Given the description of an element on the screen output the (x, y) to click on. 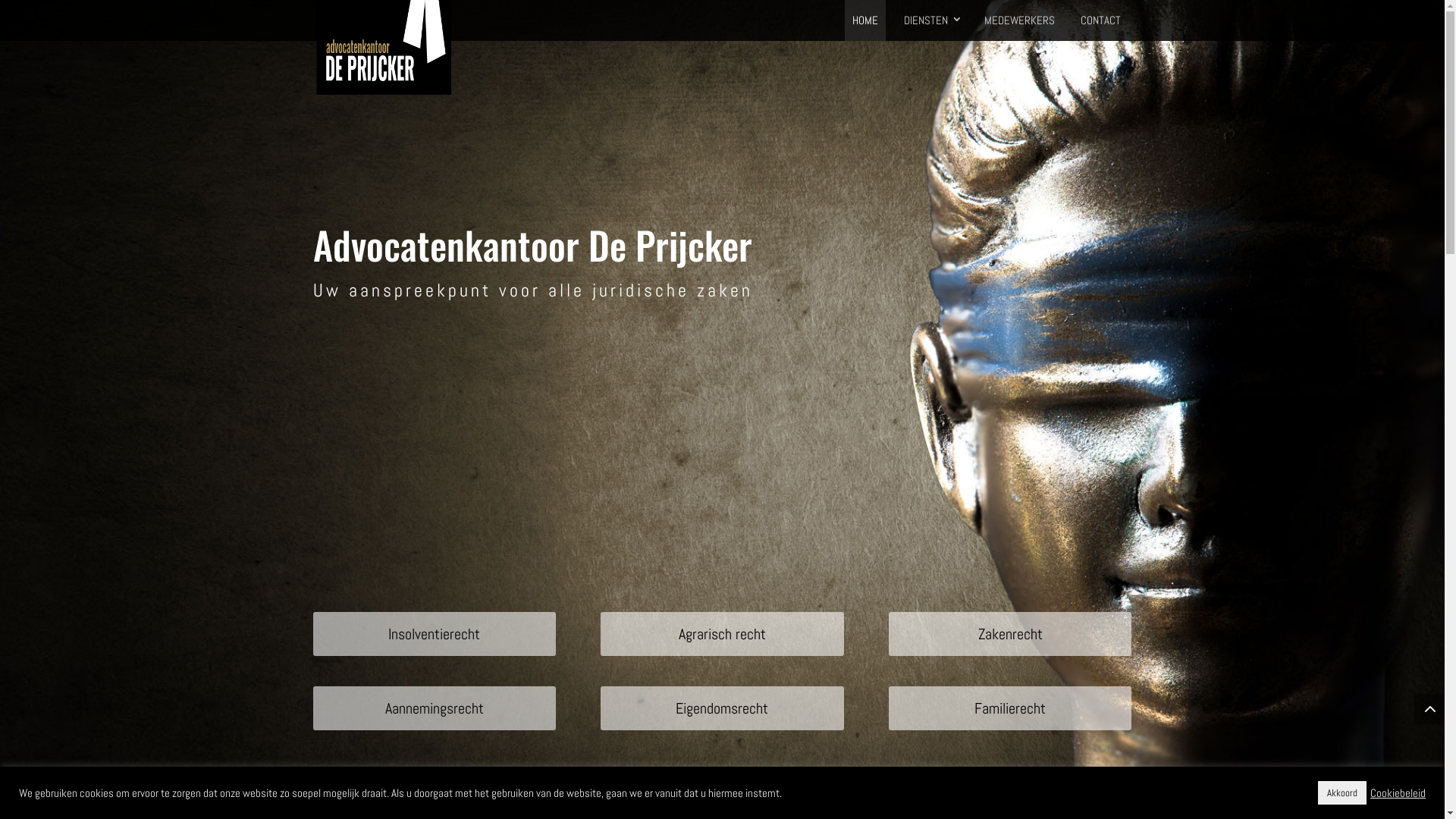
Insolventierecht Element type: text (433, 633)
HOME Element type: text (864, 20)
CONTACT Element type: text (1099, 20)
Agrarisch recht Element type: text (721, 633)
Akkoord Element type: text (1341, 792)
Zakenrecht Element type: text (1009, 633)
DIENSTEN Element type: text (931, 20)
Cookiebeleid Element type: text (1397, 792)
Familierecht Element type: text (1009, 708)
Aannemingsrecht Element type: text (433, 708)
Eigendomsrecht Element type: text (721, 708)
MEDEWERKERS Element type: text (1019, 20)
